Given the description of an element on the screen output the (x, y) to click on. 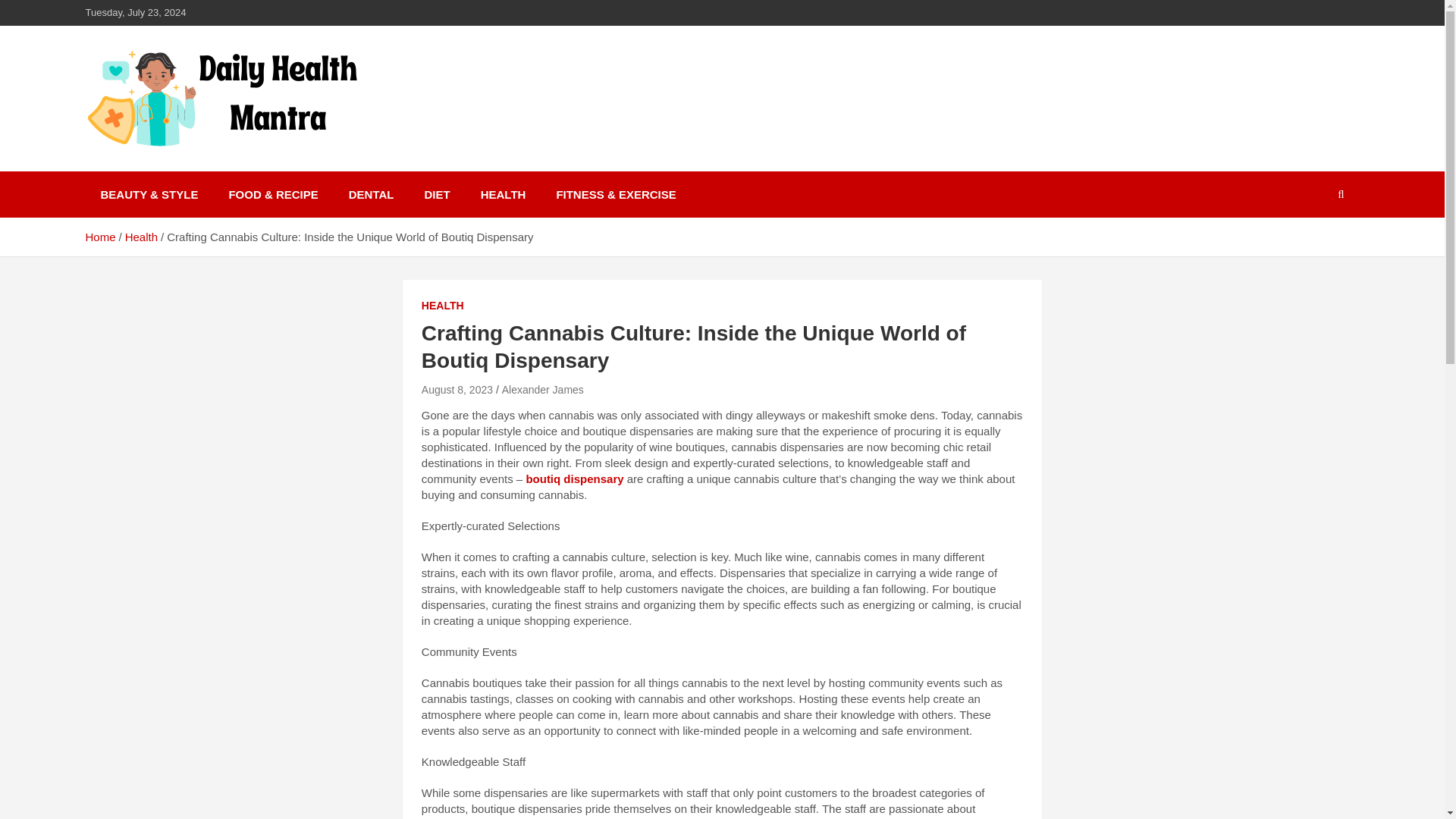
HEALTH (443, 305)
HEALTH (503, 194)
DIET (436, 194)
Alexander James (542, 389)
August 8, 2023 (457, 389)
Daily Health Mantra (225, 168)
DENTAL (371, 194)
Health (141, 236)
Home (99, 236)
boutiq dispensary (574, 478)
